Given the description of an element on the screen output the (x, y) to click on. 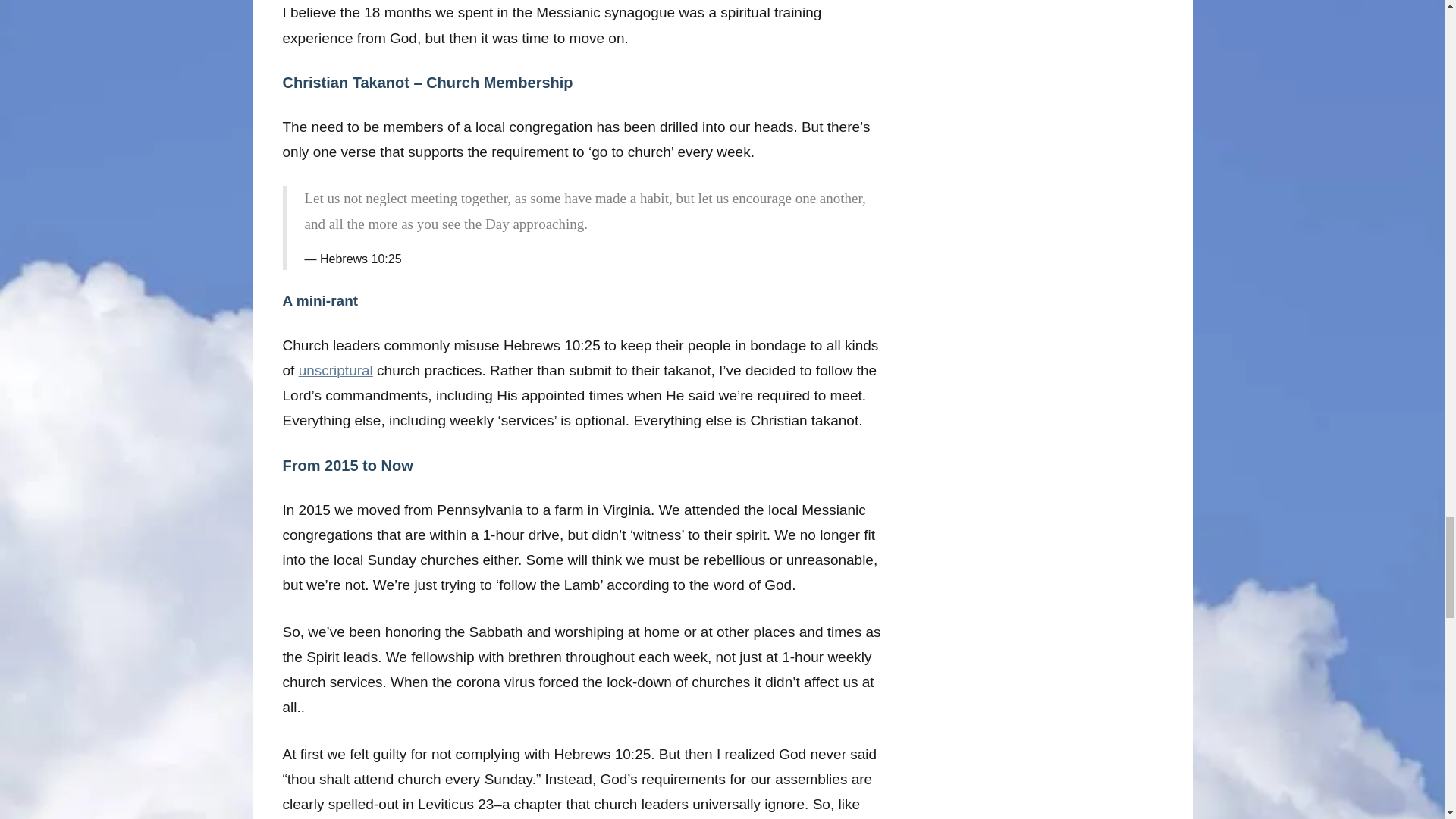
unscriptural (335, 370)
